Given the description of an element on the screen output the (x, y) to click on. 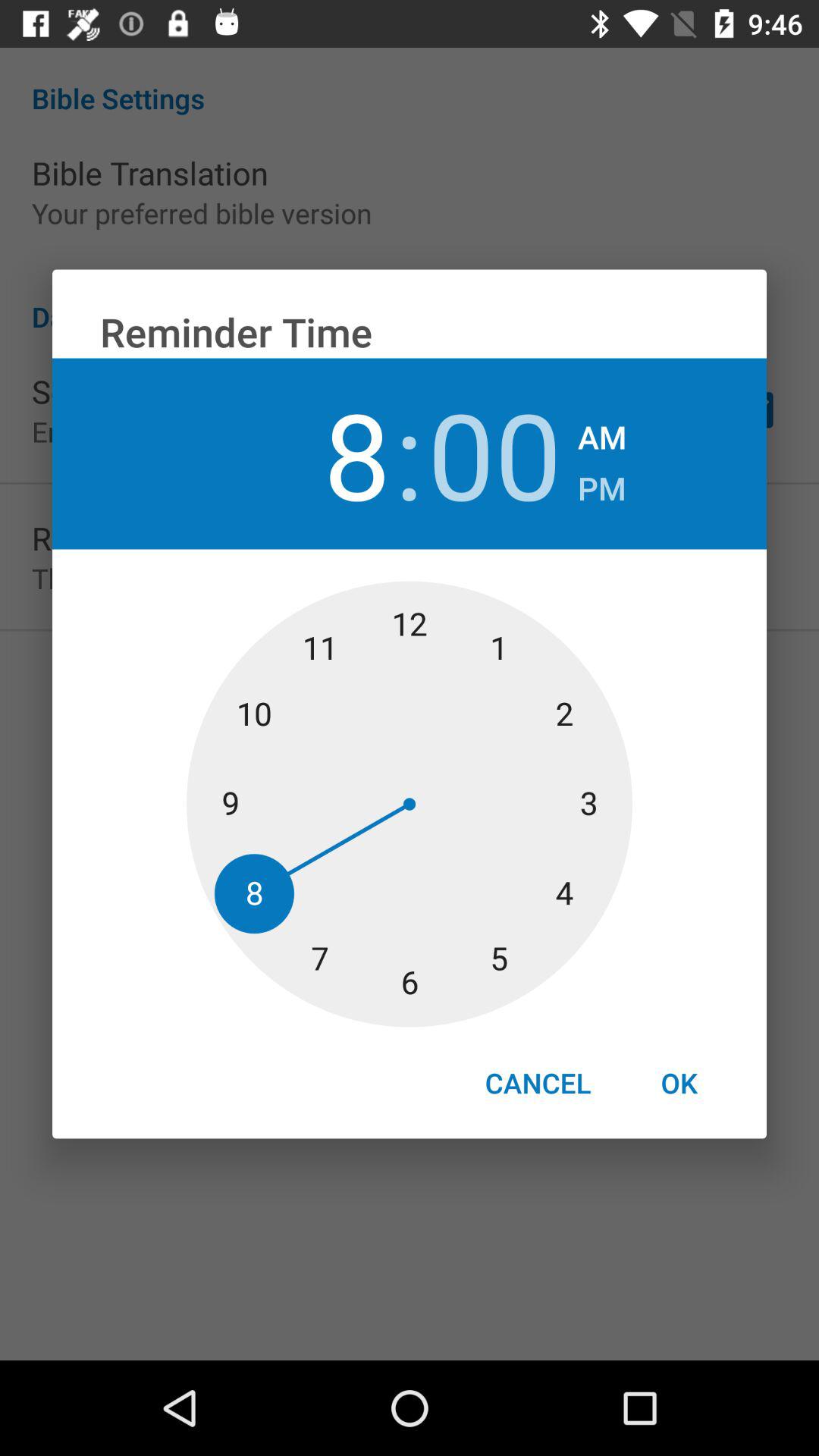
scroll until am checkbox (601, 432)
